Given the description of an element on the screen output the (x, y) to click on. 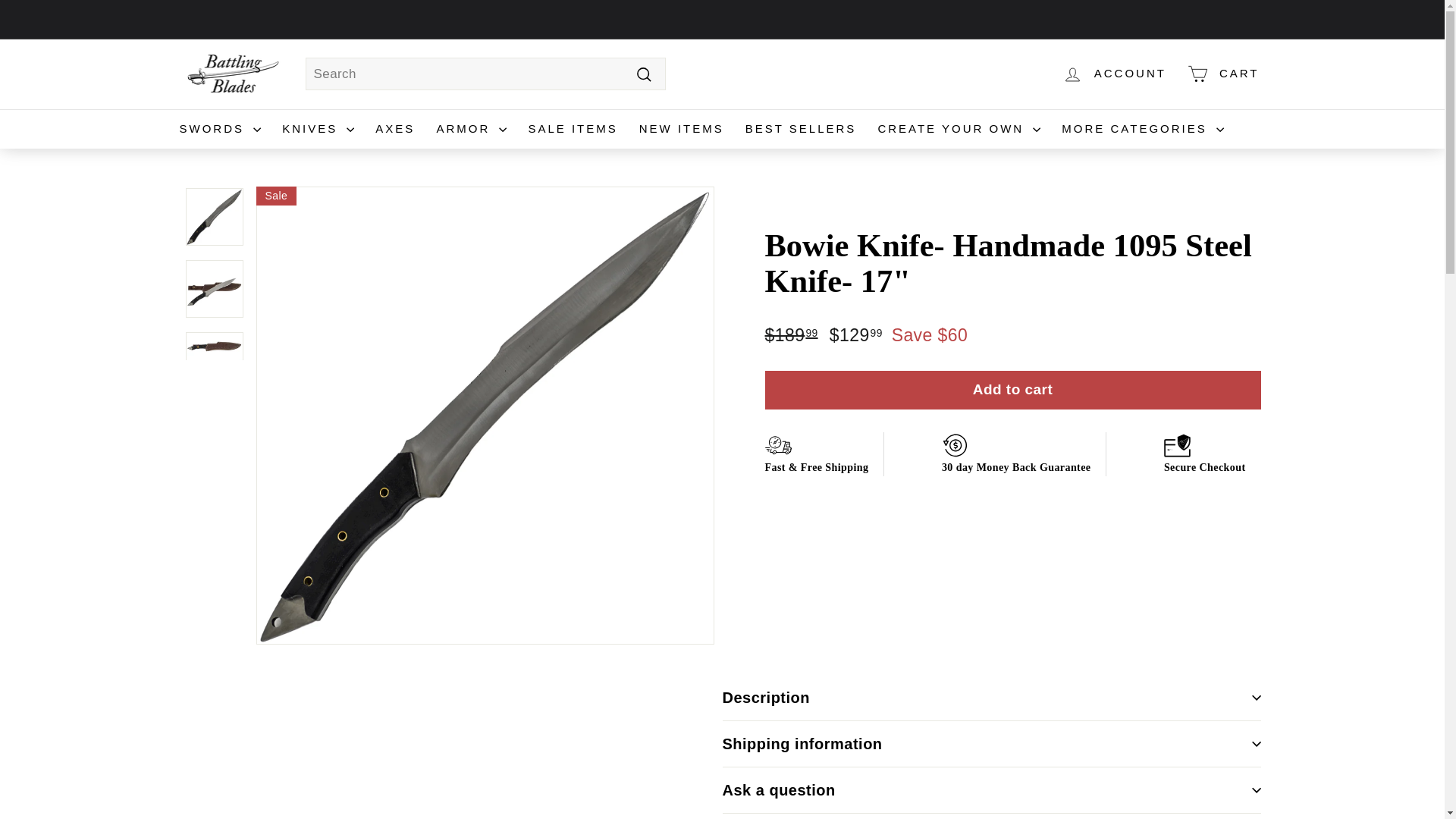
CART (1222, 73)
ACCOUNT (1113, 73)
AXES (395, 128)
